Given the description of an element on the screen output the (x, y) to click on. 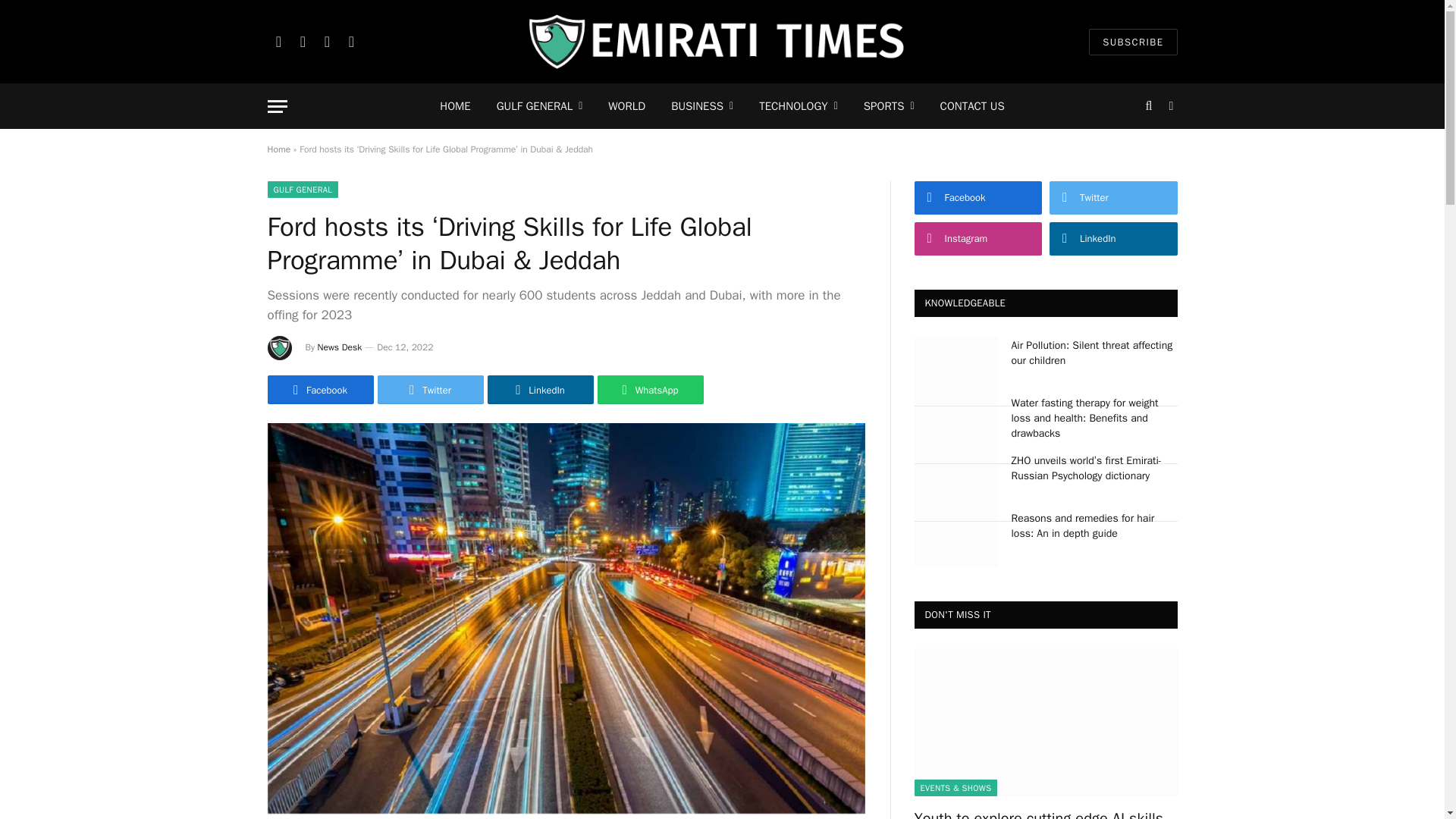
SUBSCRIBE (1132, 41)
Emirati Times (722, 41)
GULF GENERAL (539, 105)
HOME (454, 105)
